Given the description of an element on the screen output the (x, y) to click on. 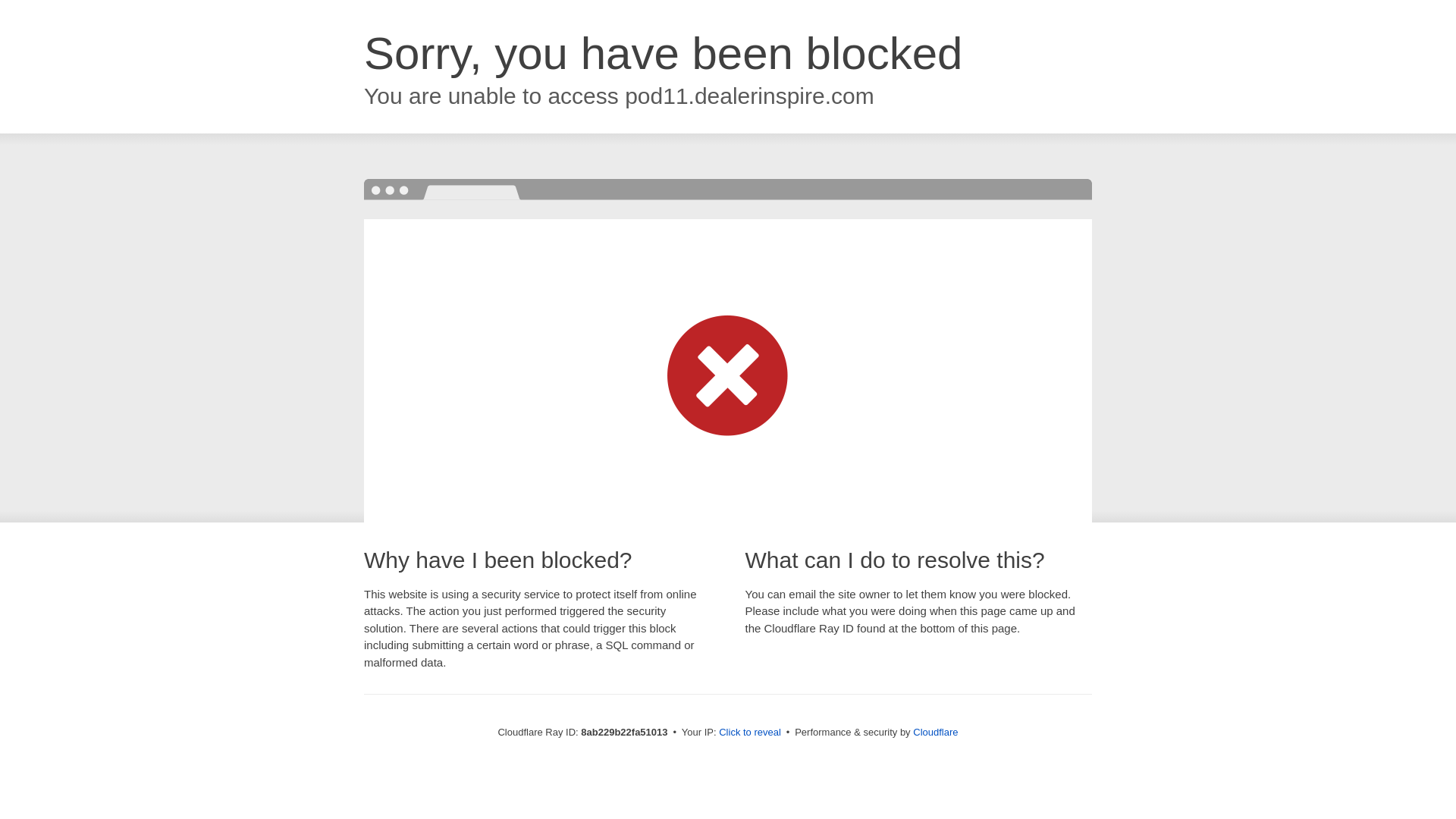
Cloudflare (935, 731)
Click to reveal (749, 732)
